Given the description of an element on the screen output the (x, y) to click on. 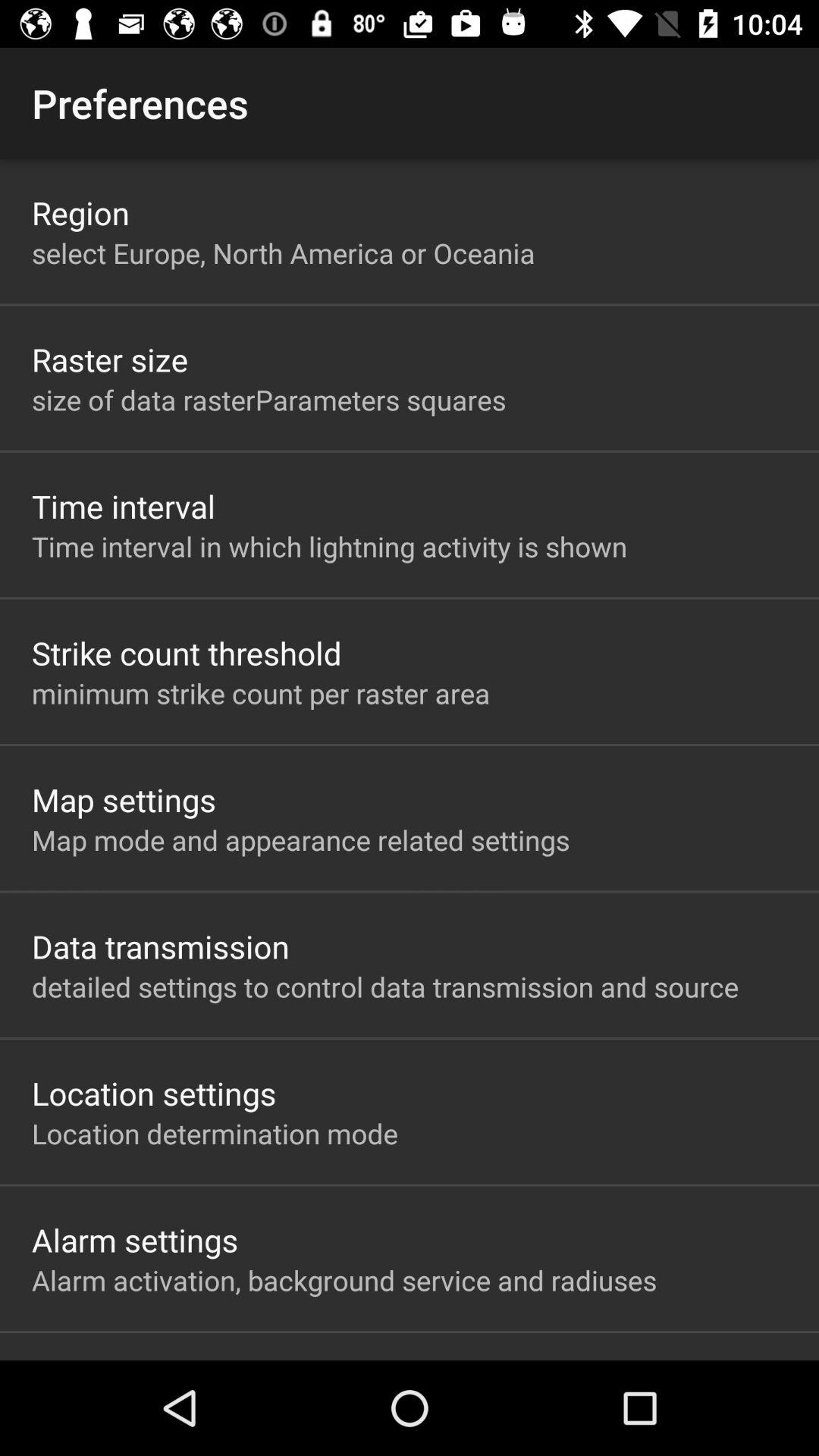
turn on the item above time interval (268, 399)
